Given the description of an element on the screen output the (x, y) to click on. 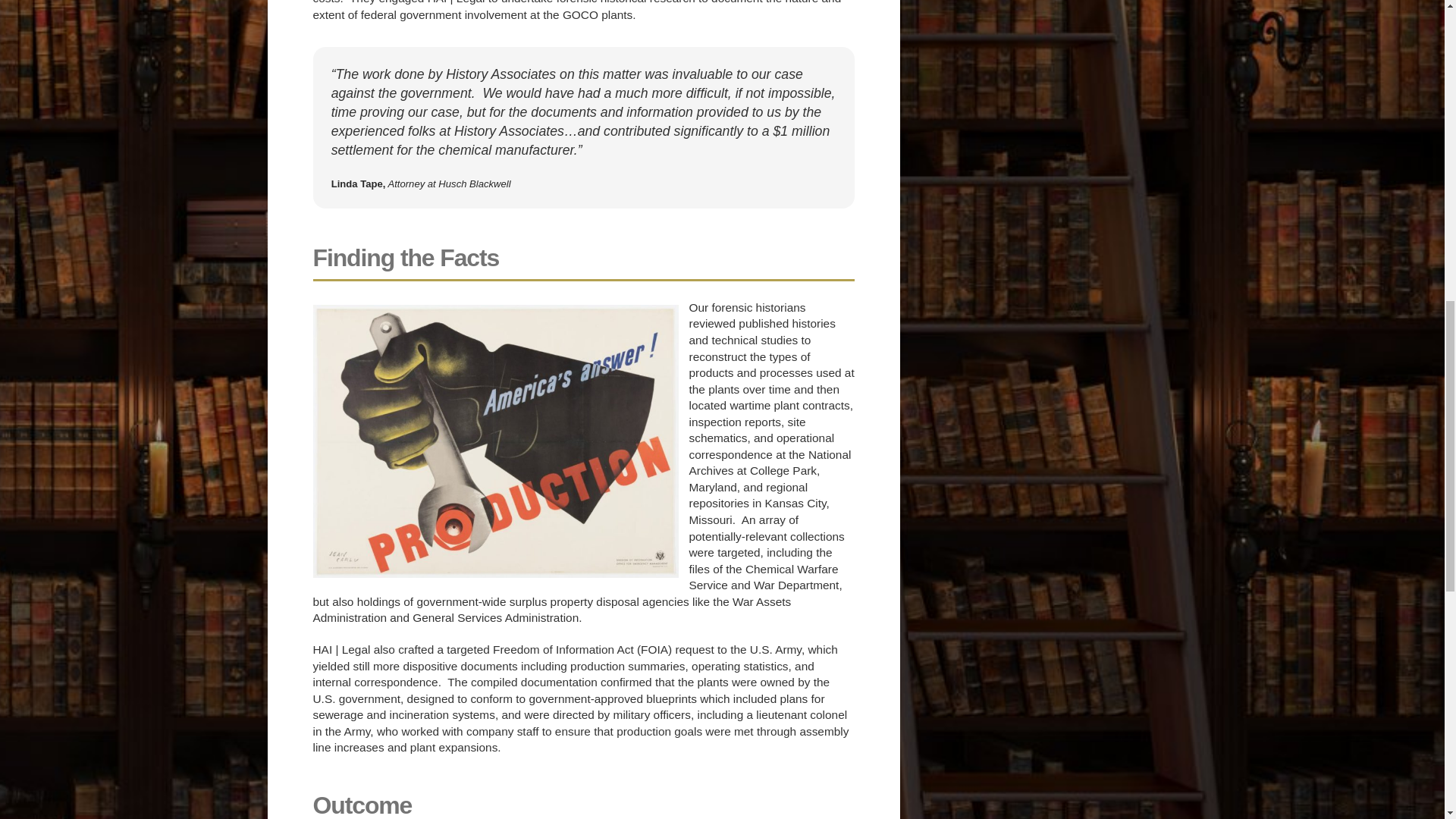
STL-riverfront-addtl-862x644-1 - HAI Legal (495, 441)
